Given the description of an element on the screen output the (x, y) to click on. 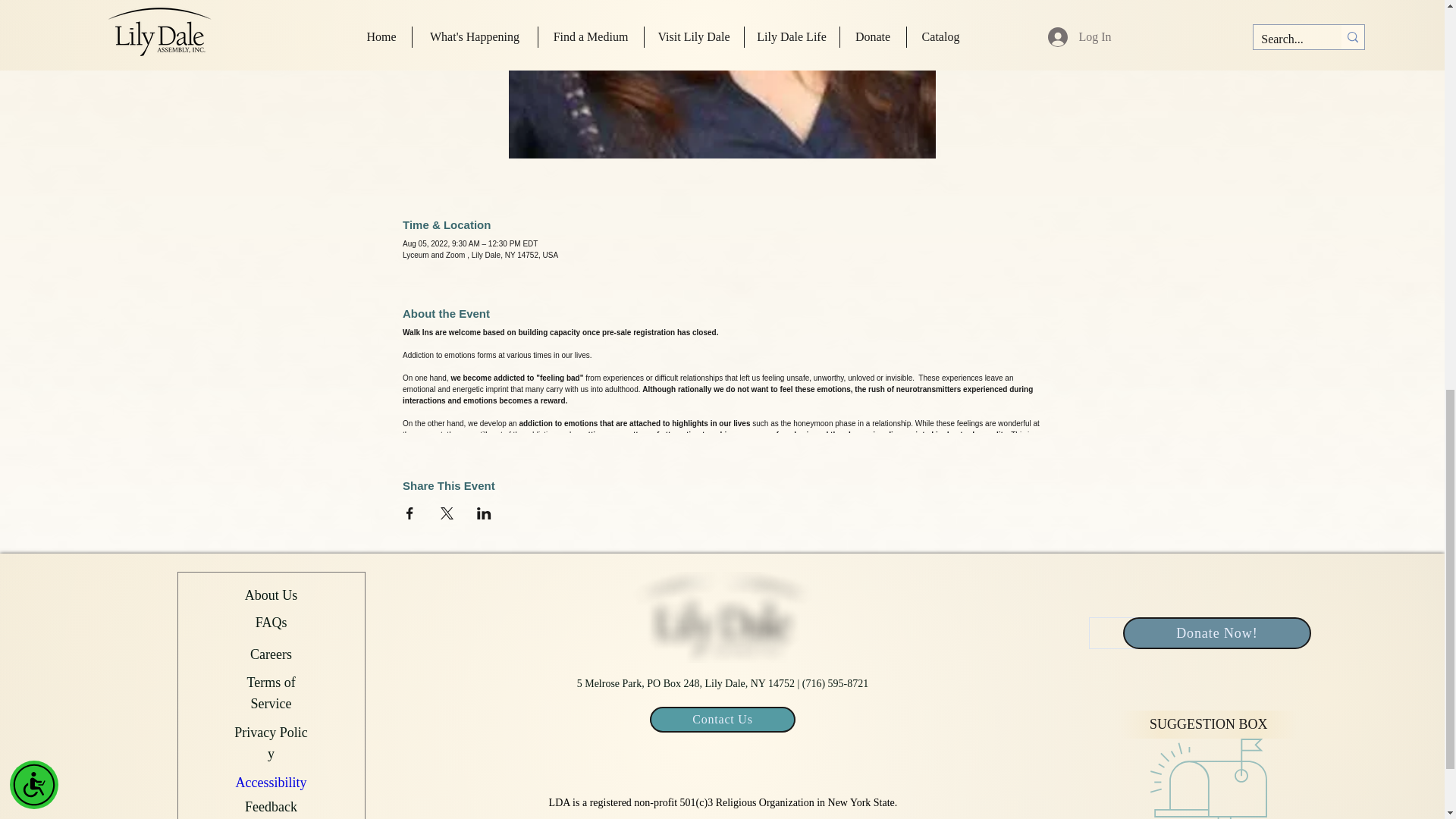
About Us (271, 595)
Privacy Policy (270, 741)
Terms of Service (270, 690)
Accessibility (271, 780)
FAQs (271, 622)
Careers (271, 652)
